Given the description of an element on the screen output the (x, y) to click on. 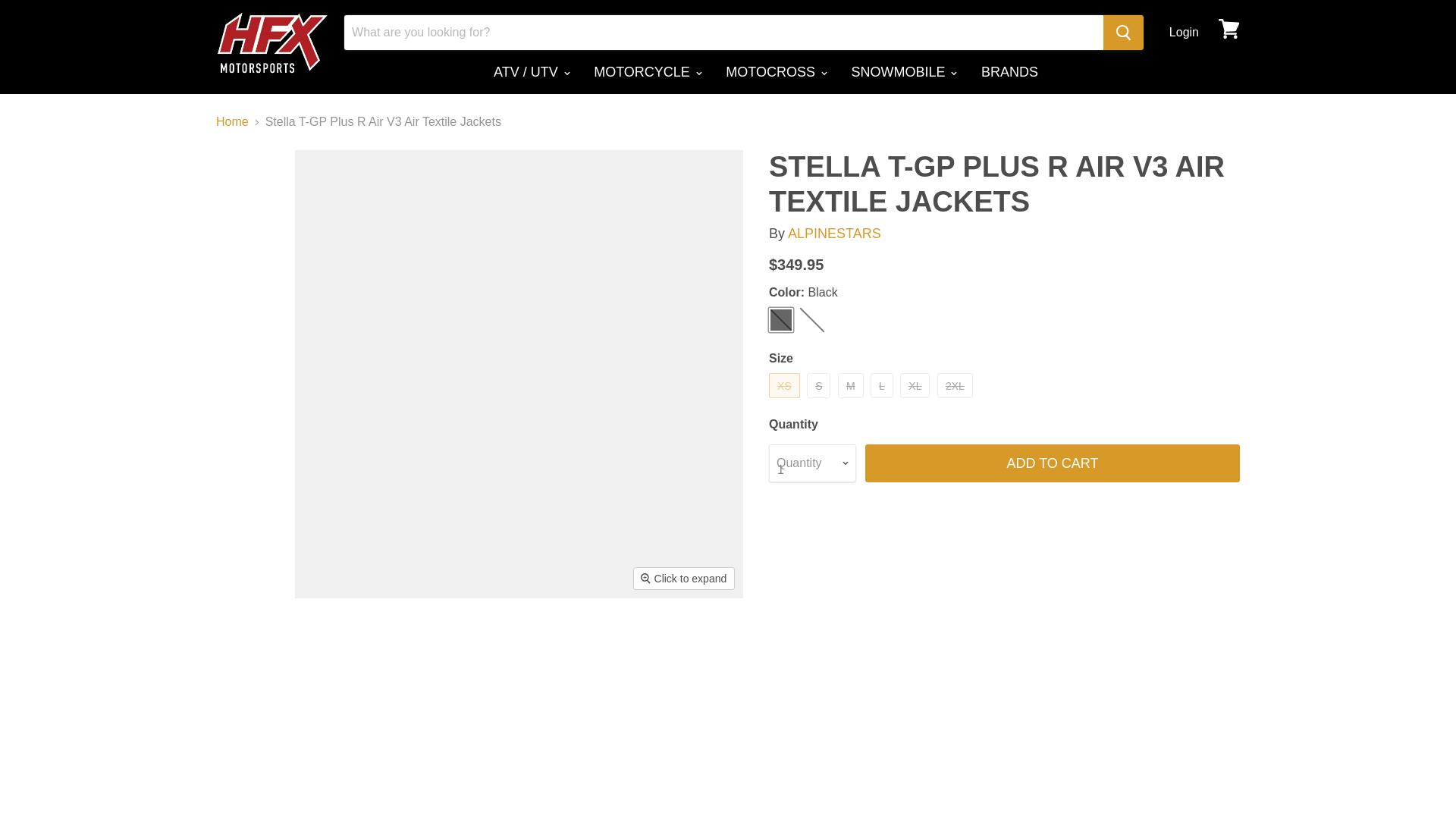
MOTORCYCLE (646, 71)
ALPINESTARS (833, 233)
Login (1183, 31)
View cart (1229, 28)
